Given the description of an element on the screen output the (x, y) to click on. 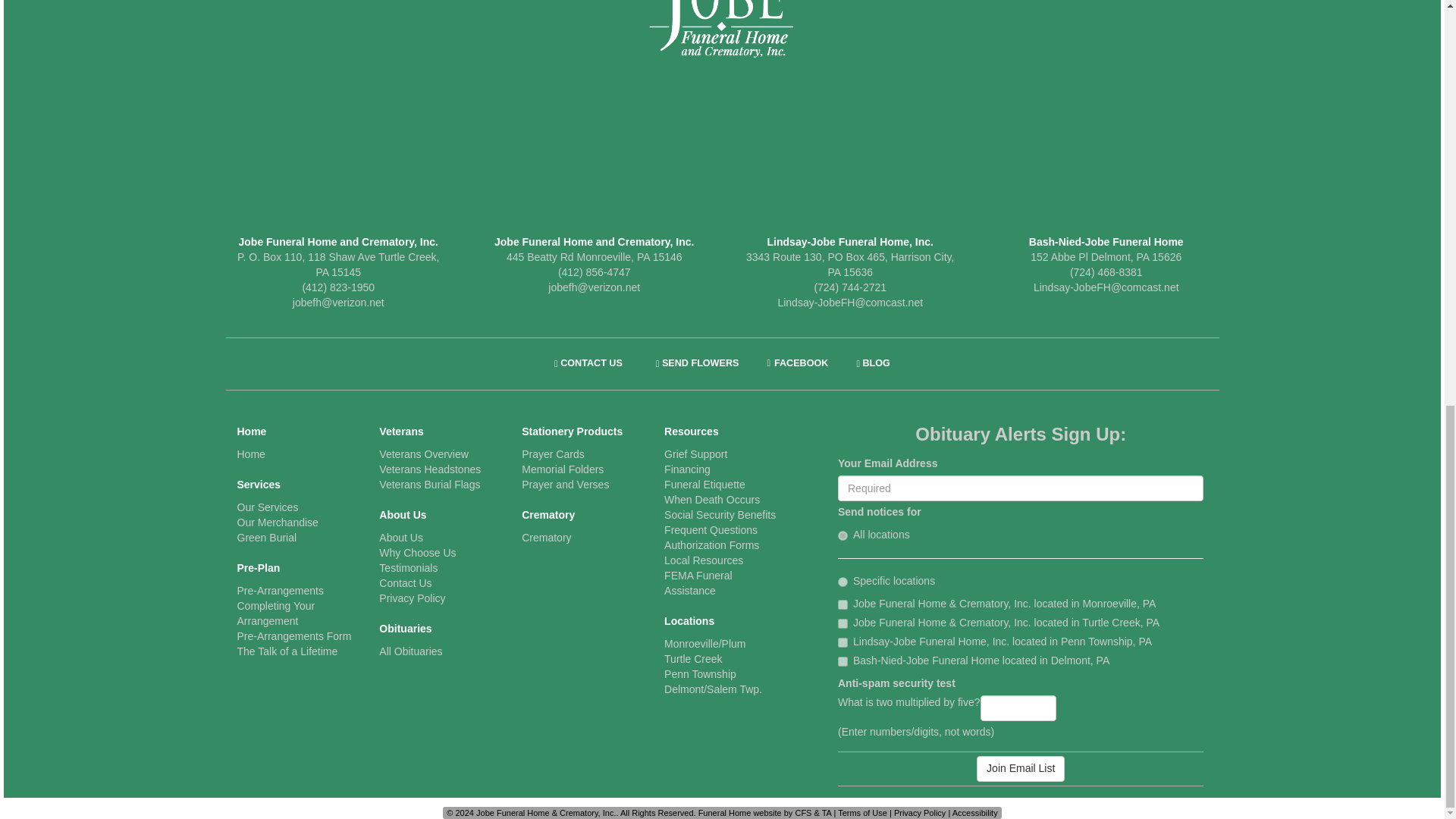
307 (842, 661)
specific (842, 582)
304 (842, 604)
all (842, 535)
306 (842, 642)
305 (842, 623)
